Given the description of an element on the screen output the (x, y) to click on. 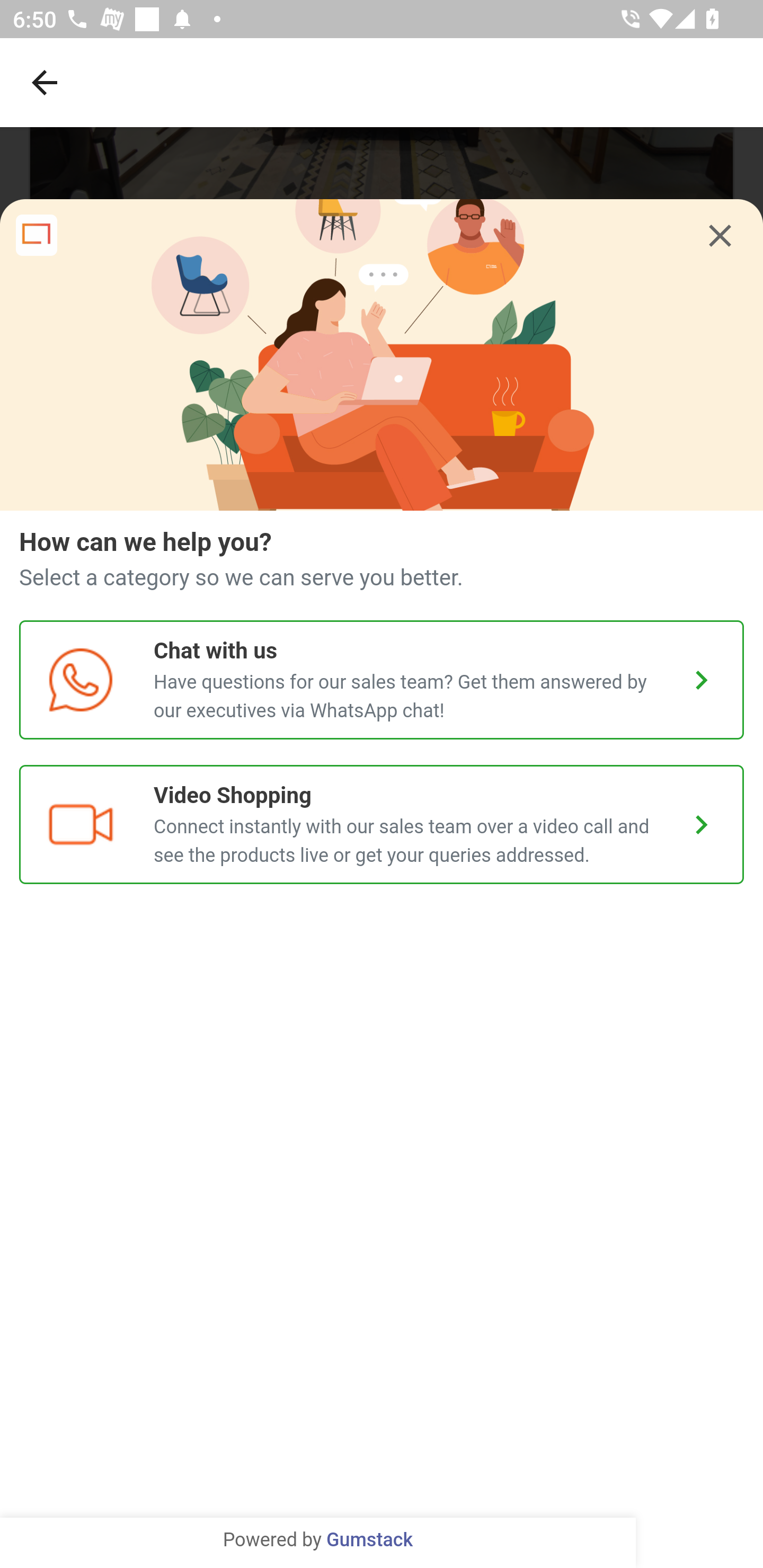
Navigate up (44, 82)
Gumstack (369, 1540)
